Given the description of an element on the screen output the (x, y) to click on. 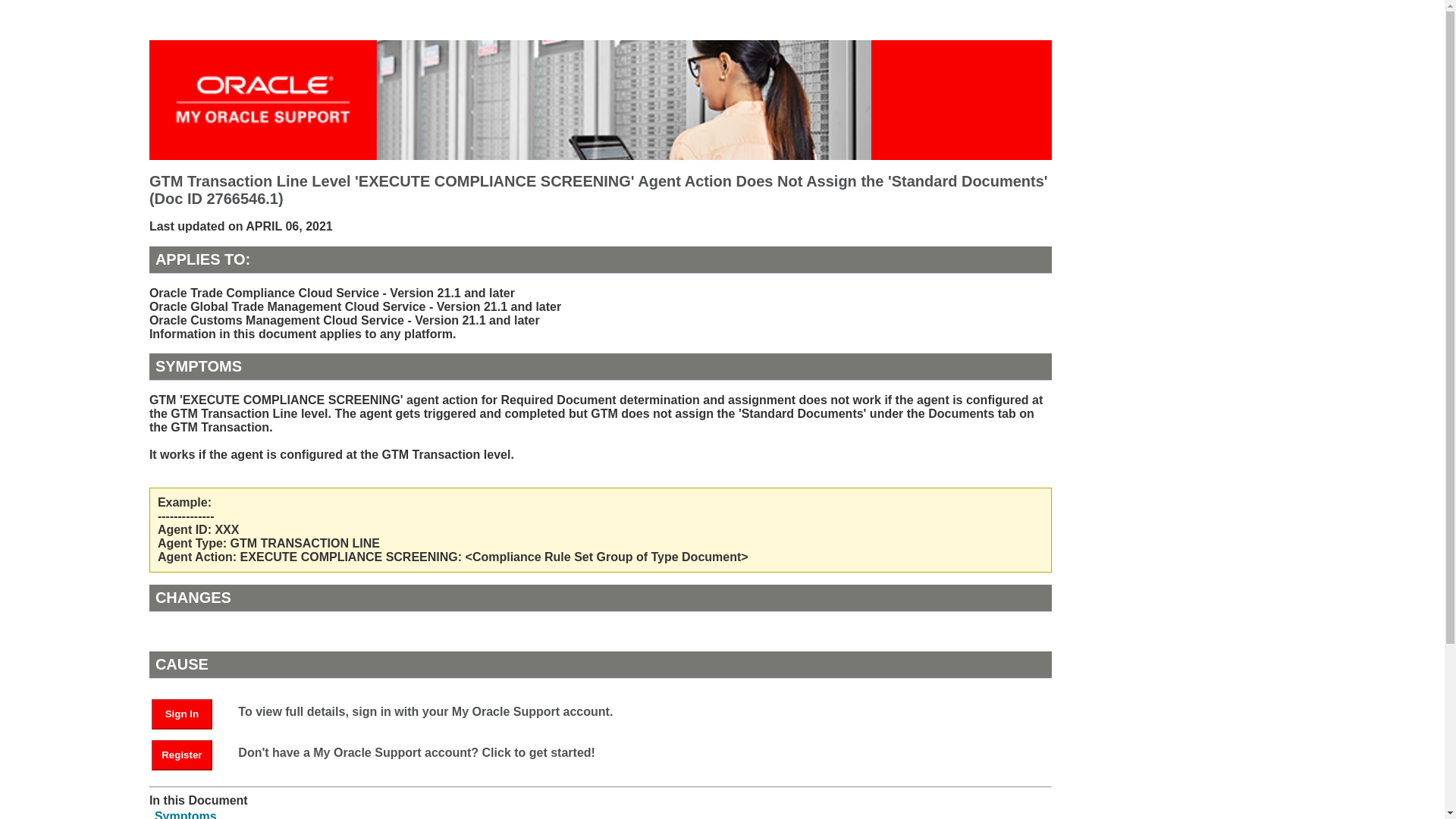
Register (181, 755)
Symptoms (185, 814)
Register (189, 753)
Sign In (181, 714)
Sign In (189, 712)
